Given the description of an element on the screen output the (x, y) to click on. 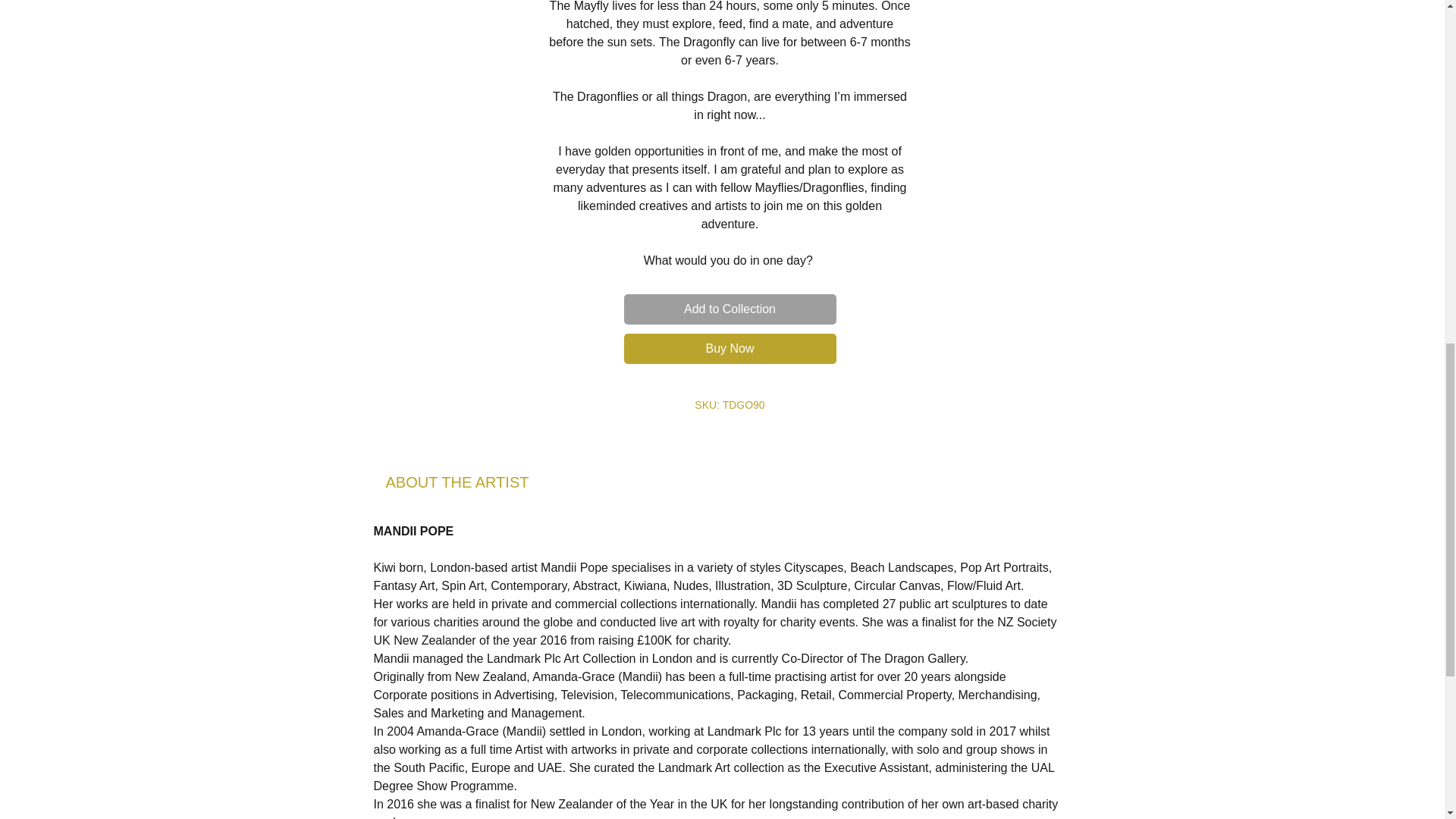
Use right and left arrows to navigate between tabs (456, 482)
